Given the description of an element on the screen output the (x, y) to click on. 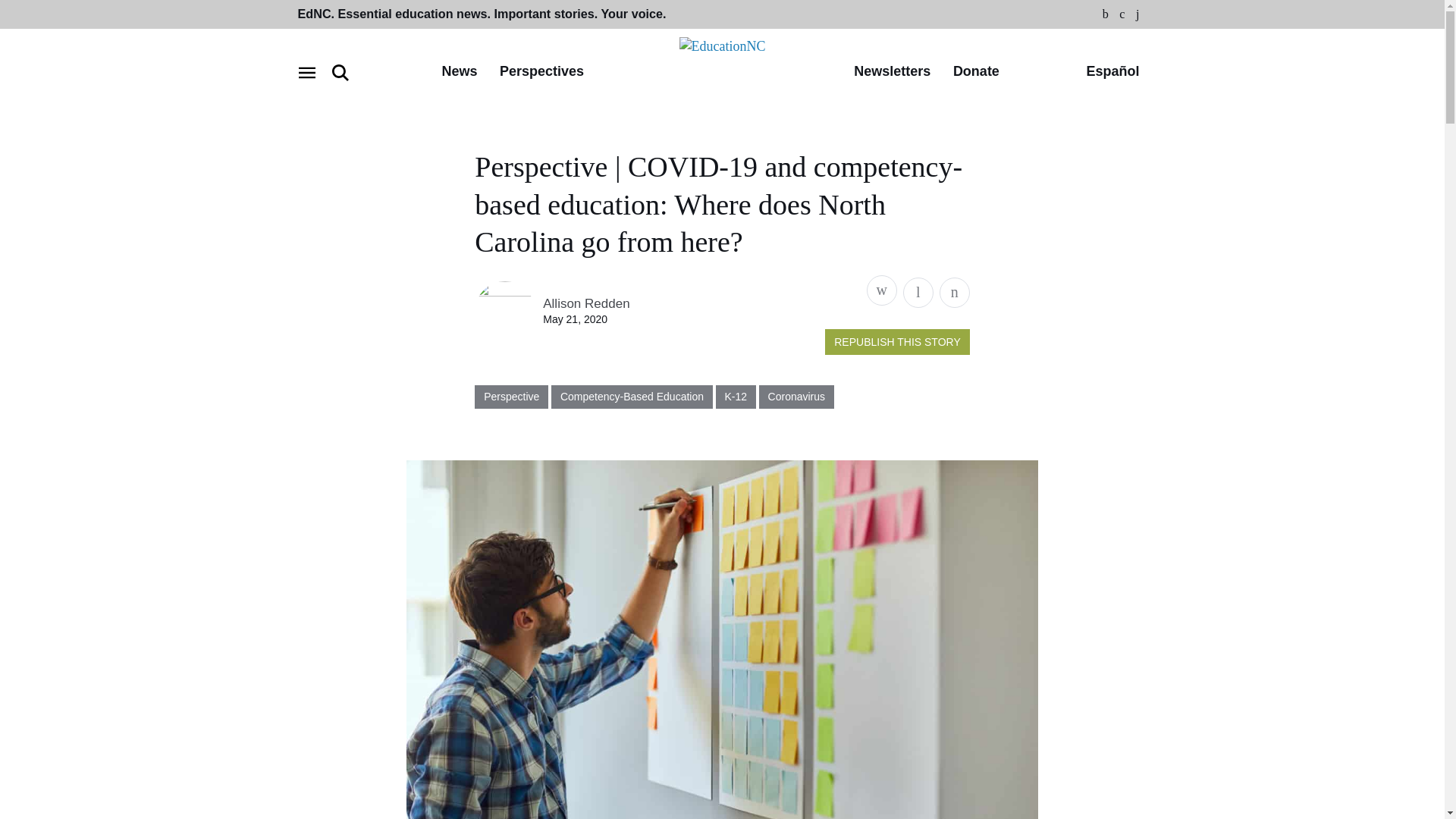
Donate (975, 71)
Share this page (881, 290)
Open navigation (306, 72)
News (459, 71)
Perspectives (541, 71)
Newsletters (891, 71)
Allison Redden (585, 303)
